Given the description of an element on the screen output the (x, y) to click on. 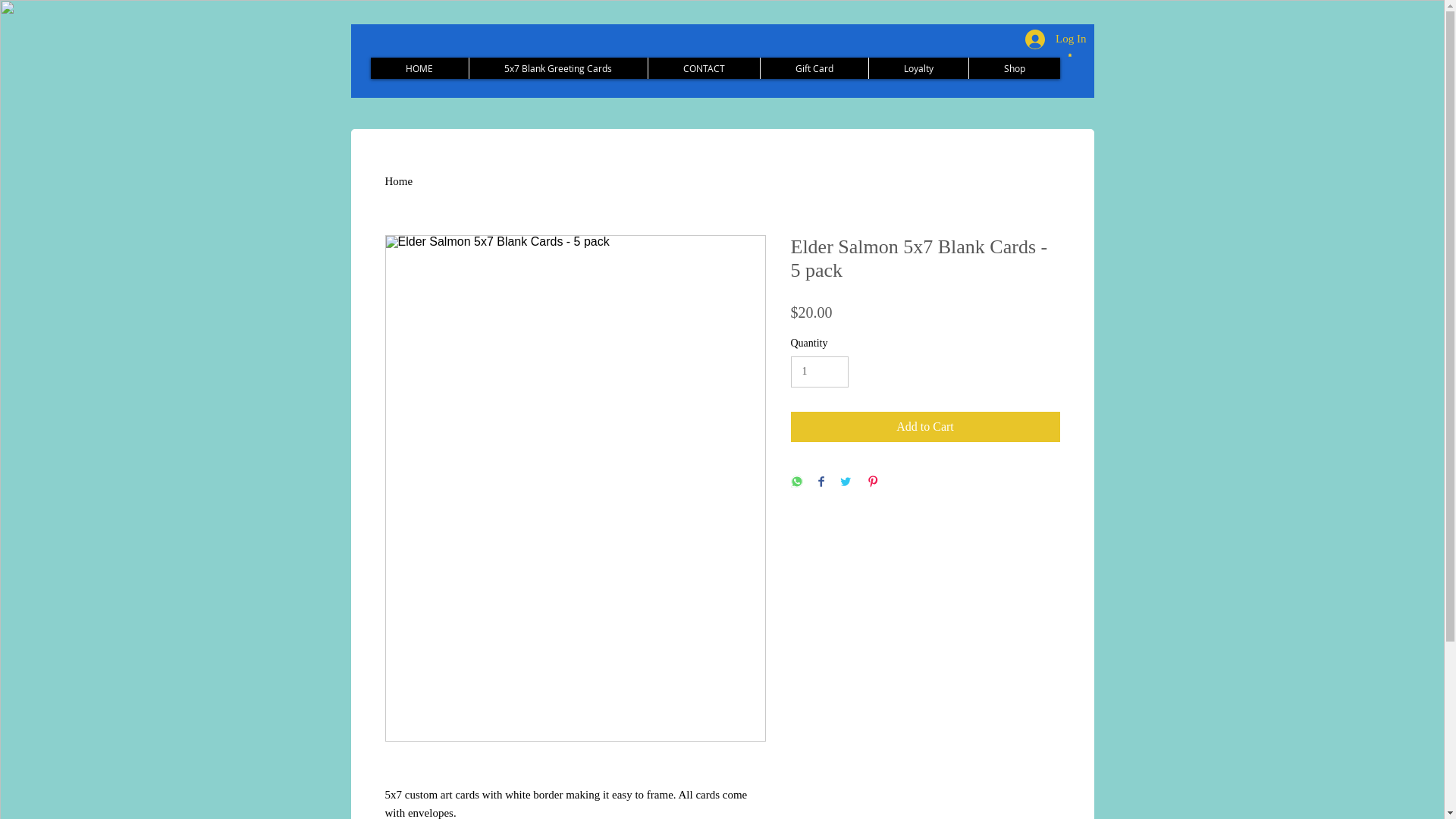
Gift Card Element type: text (813, 67)
Add to Cart Element type: text (924, 426)
Loyalty Element type: text (917, 67)
CONTACT Element type: text (703, 67)
0 Element type: text (1068, 54)
5x7 Blank Greeting Cards Element type: text (557, 67)
Log In Element type: text (1055, 38)
Shop Element type: text (1013, 67)
Home Element type: text (399, 181)
HOME Element type: text (418, 67)
